Given the description of an element on the screen output the (x, y) to click on. 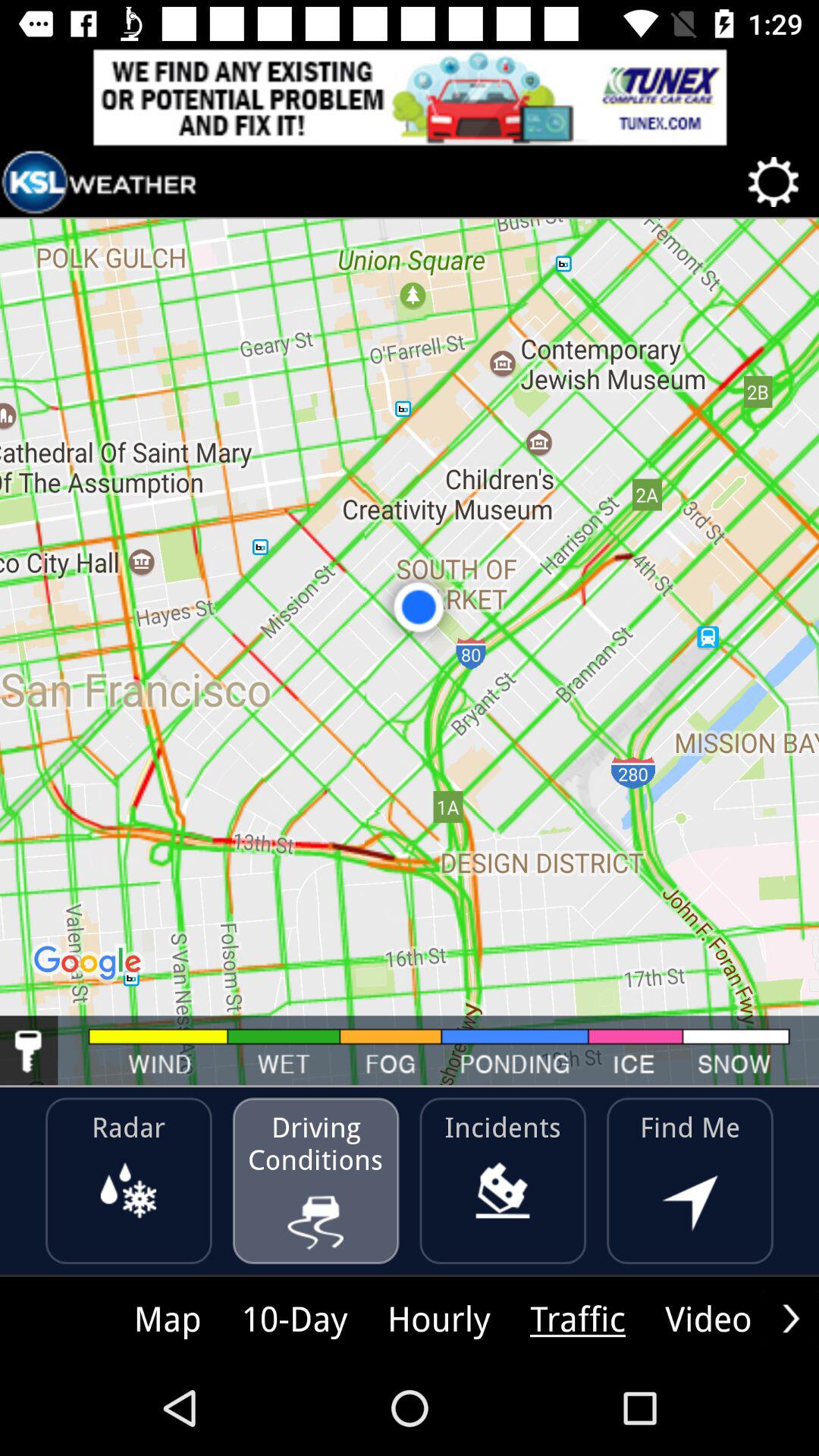
weather report (99, 182)
